Given the description of an element on the screen output the (x, y) to click on. 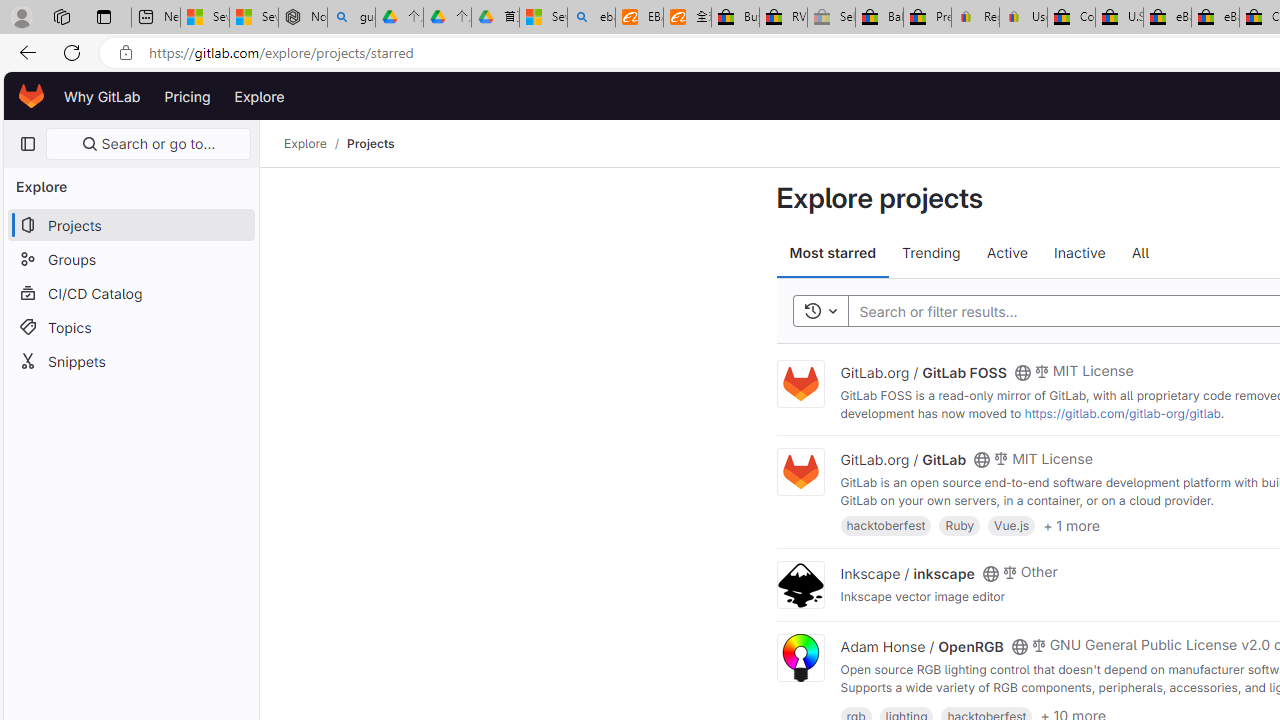
Adam Honse / OpenRGB (921, 646)
Baby Keepsakes & Announcements for sale | eBay (879, 17)
Projects (370, 143)
Why GitLab (102, 95)
CI/CD Catalog (130, 292)
Snippets (130, 360)
Inactive (1079, 253)
Homepage (31, 95)
Sell worldwide with eBay - Sleeping (831, 17)
Topics (130, 326)
Most starred (832, 253)
